Given the description of an element on the screen output the (x, y) to click on. 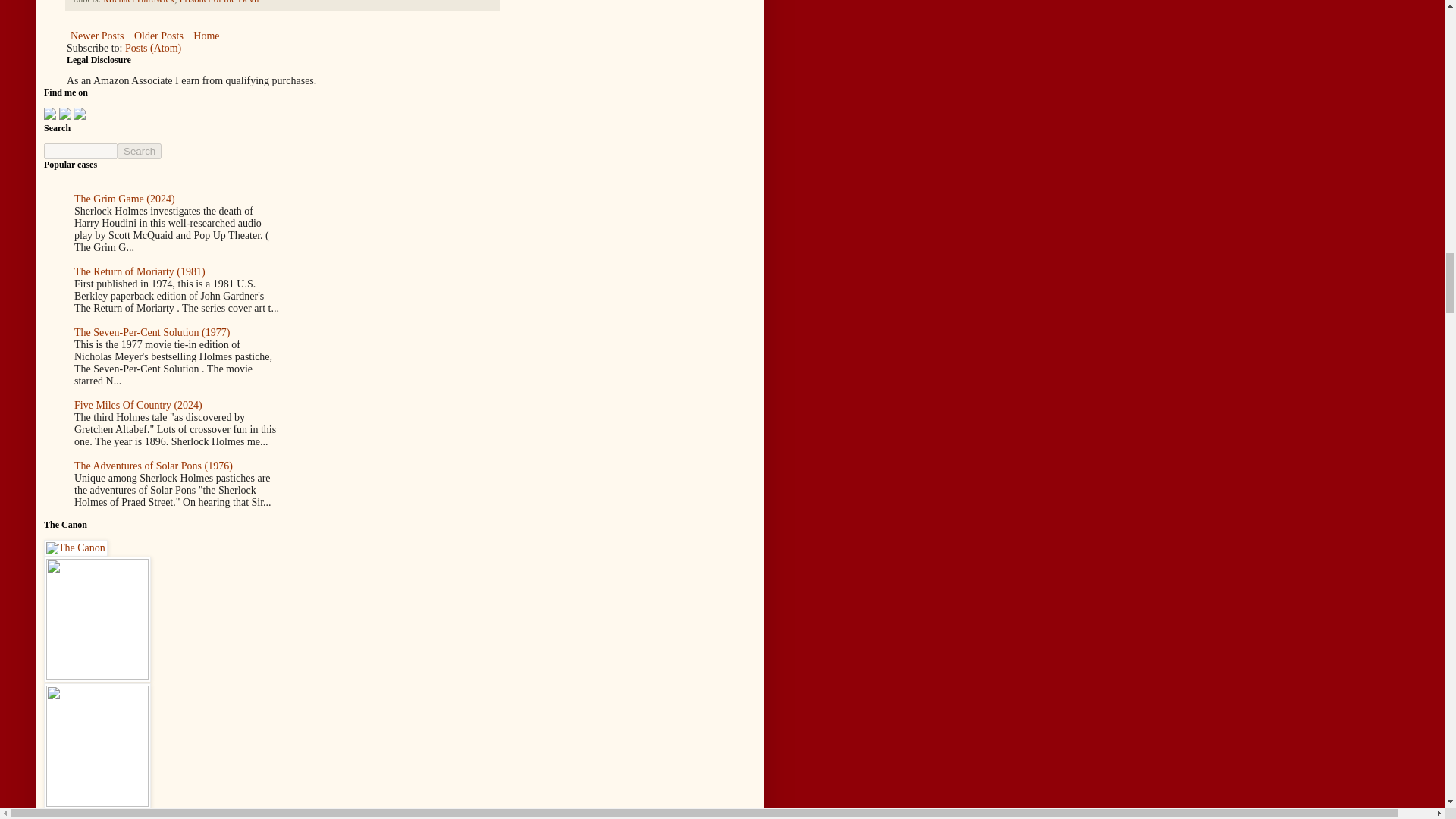
Search (139, 150)
Search (139, 150)
